Given the description of an element on the screen output the (x, y) to click on. 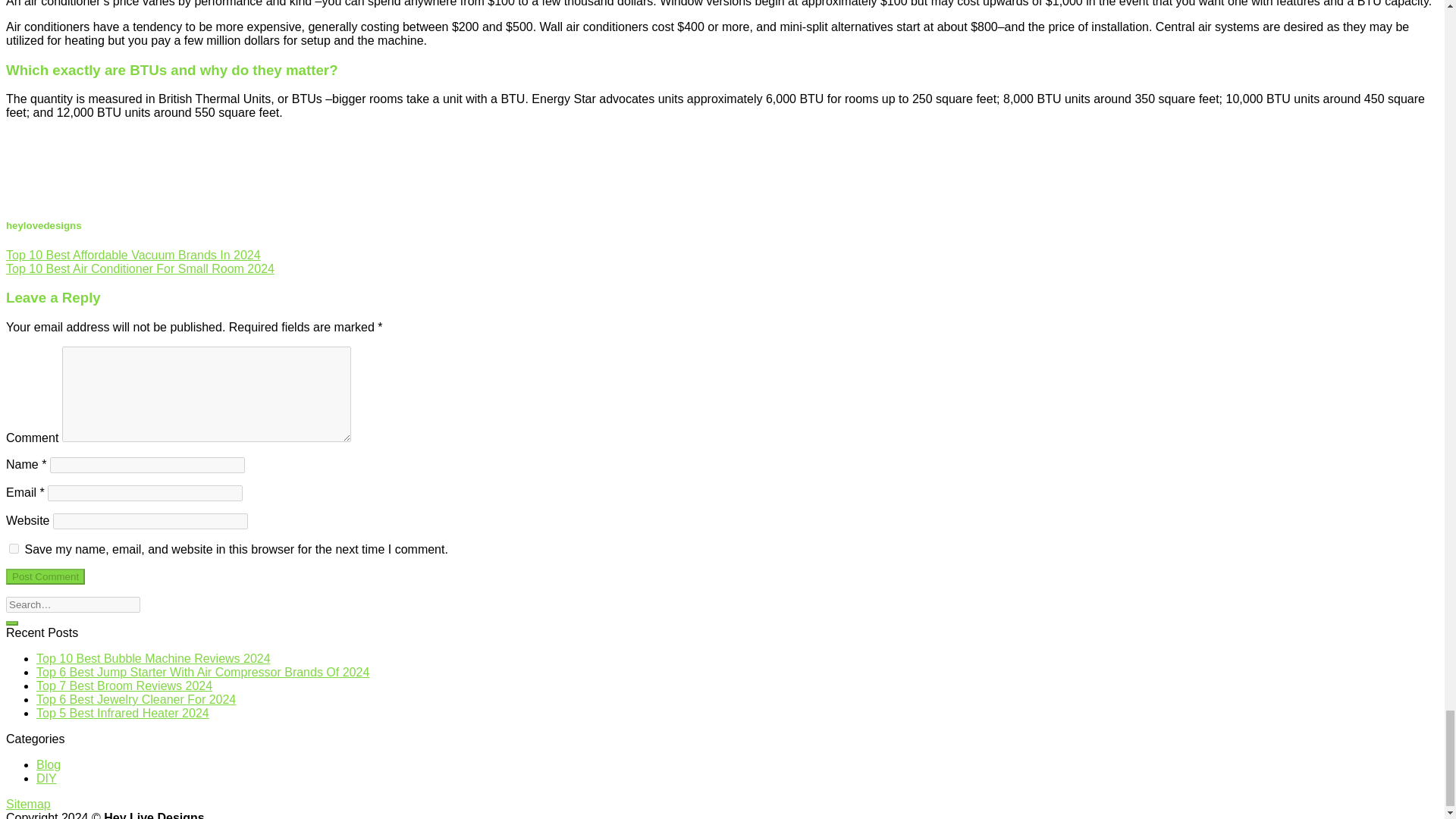
Post Comment (44, 576)
yes (13, 548)
